Given the description of an element on the screen output the (x, y) to click on. 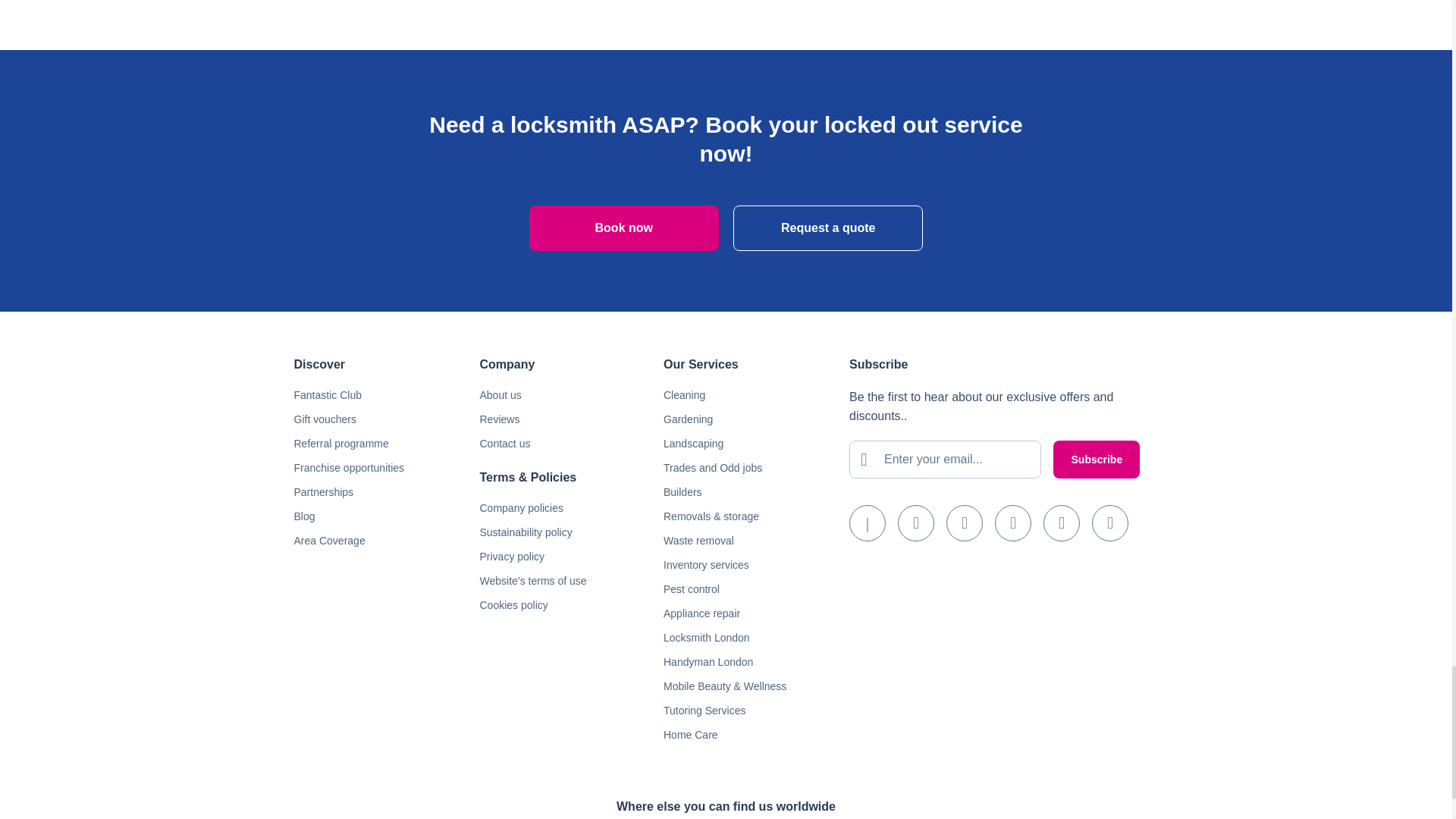
Subscribe (1096, 459)
